Given the description of an element on the screen output the (x, y) to click on. 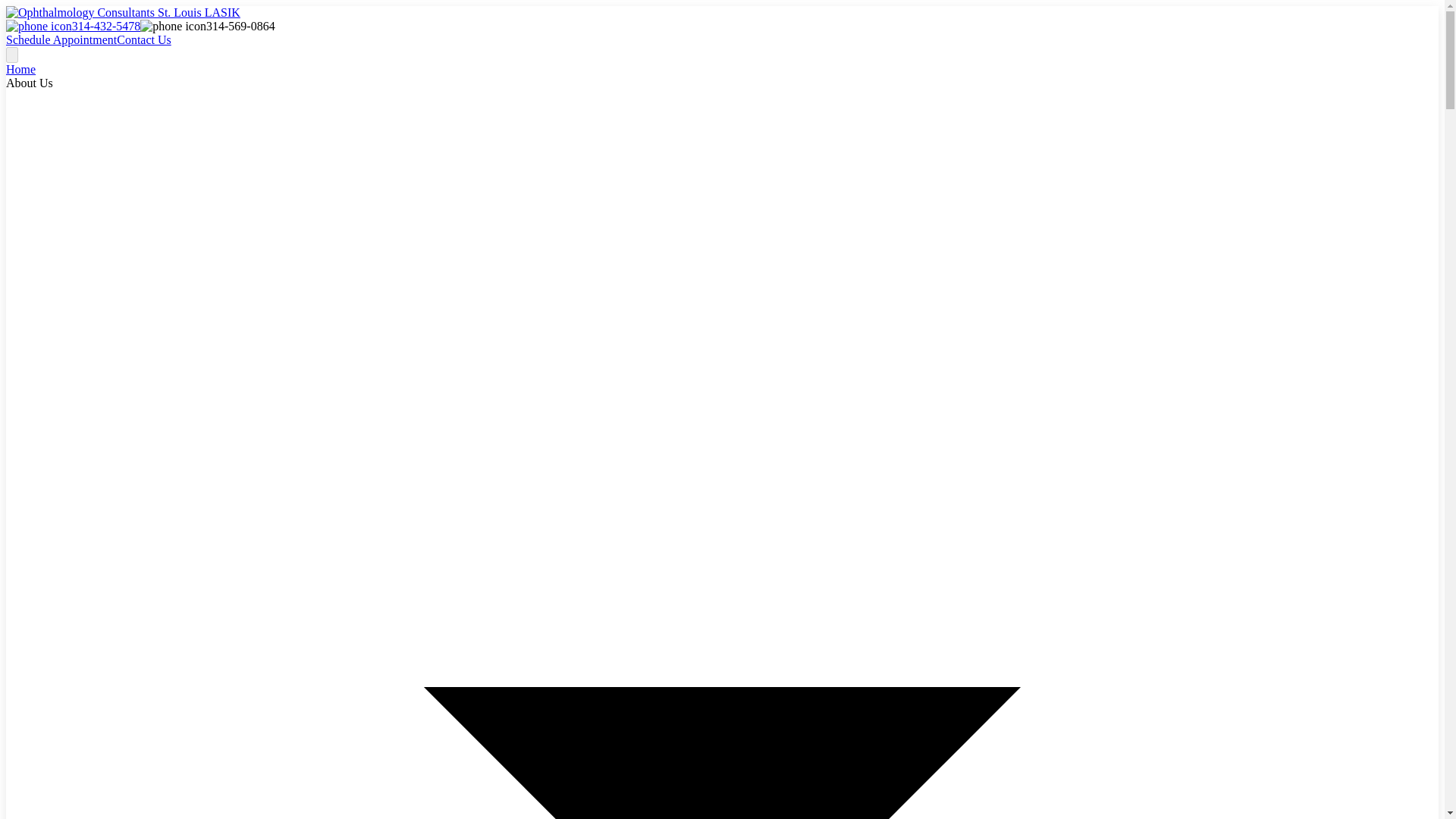
Home (19, 69)
Schedule Appointment (60, 39)
314-432-5478 (72, 25)
Contact Us (143, 39)
